Given the description of an element on the screen output the (x, y) to click on. 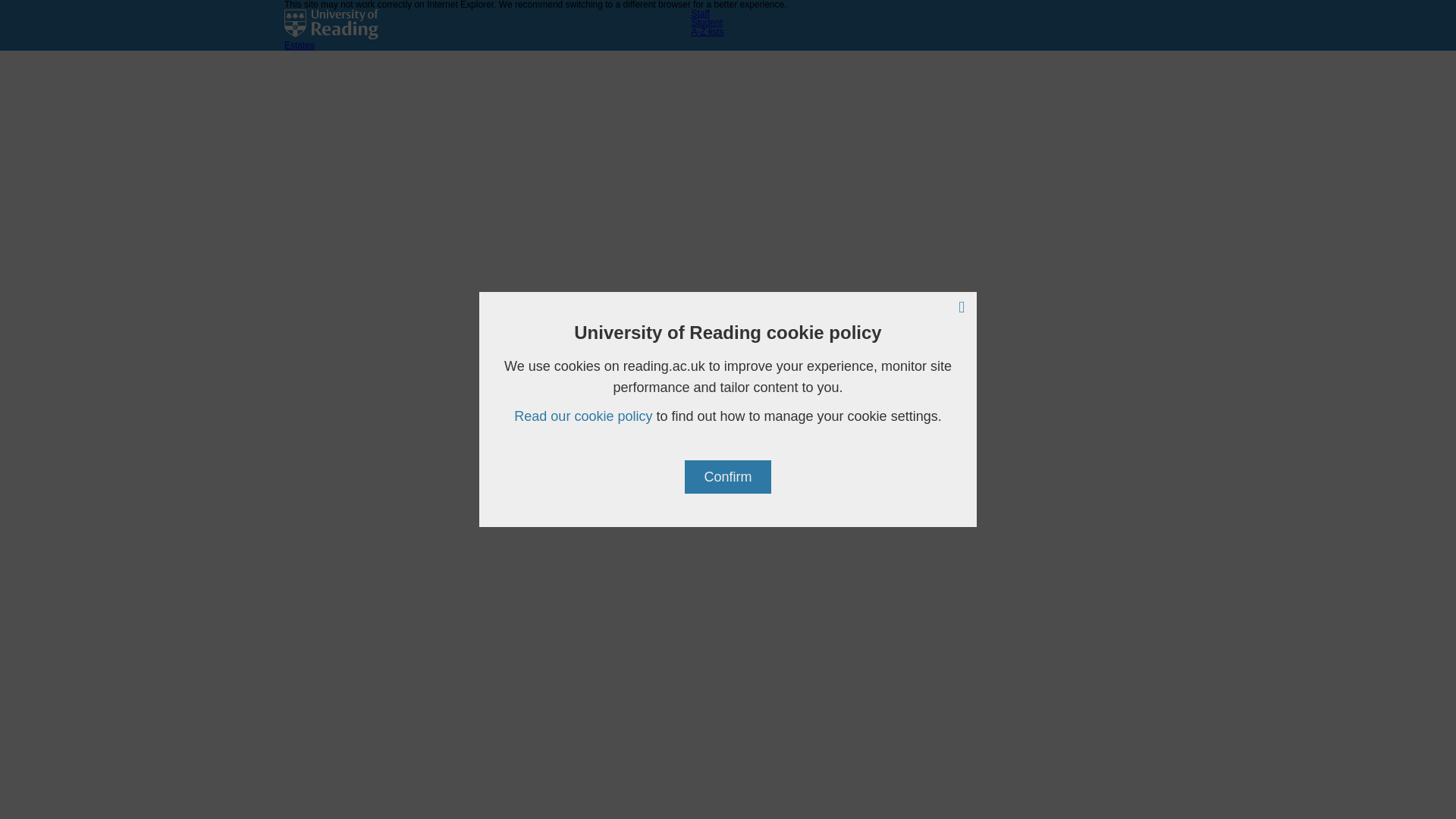
Read our cookie policy (582, 416)
Confirm (727, 476)
Staff (699, 13)
Estates (298, 45)
Estates (298, 45)
A-Z lists (706, 31)
Student (706, 22)
